Given the description of an element on the screen output the (x, y) to click on. 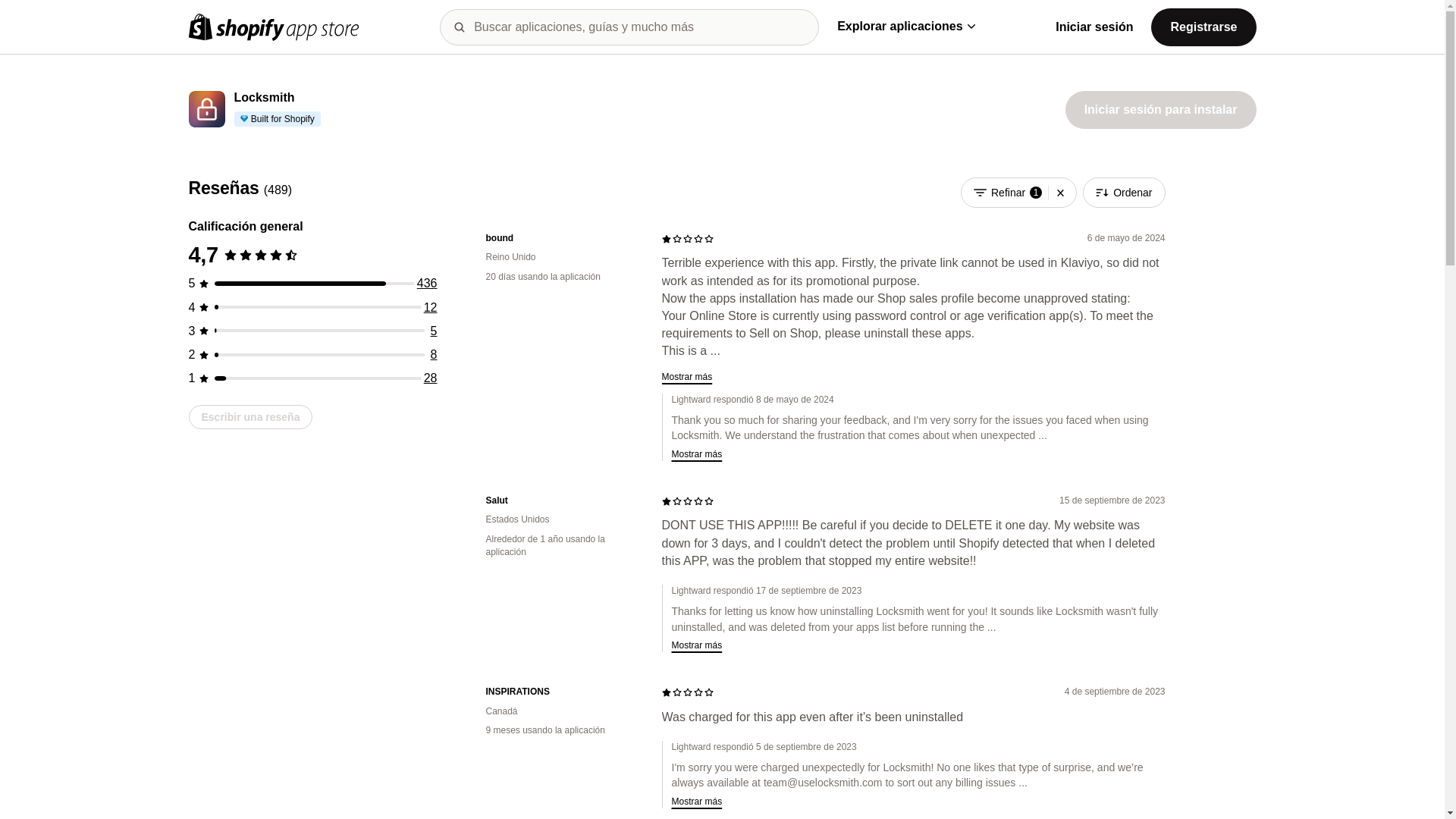
Salut (560, 500)
bound (560, 237)
12 (430, 307)
INSPIRATIONS  (560, 691)
Registrarse (1203, 26)
Built for Shopify (276, 117)
Explorar aplicaciones (905, 26)
436 (427, 282)
Locksmith (263, 97)
